Given the description of an element on the screen output the (x, y) to click on. 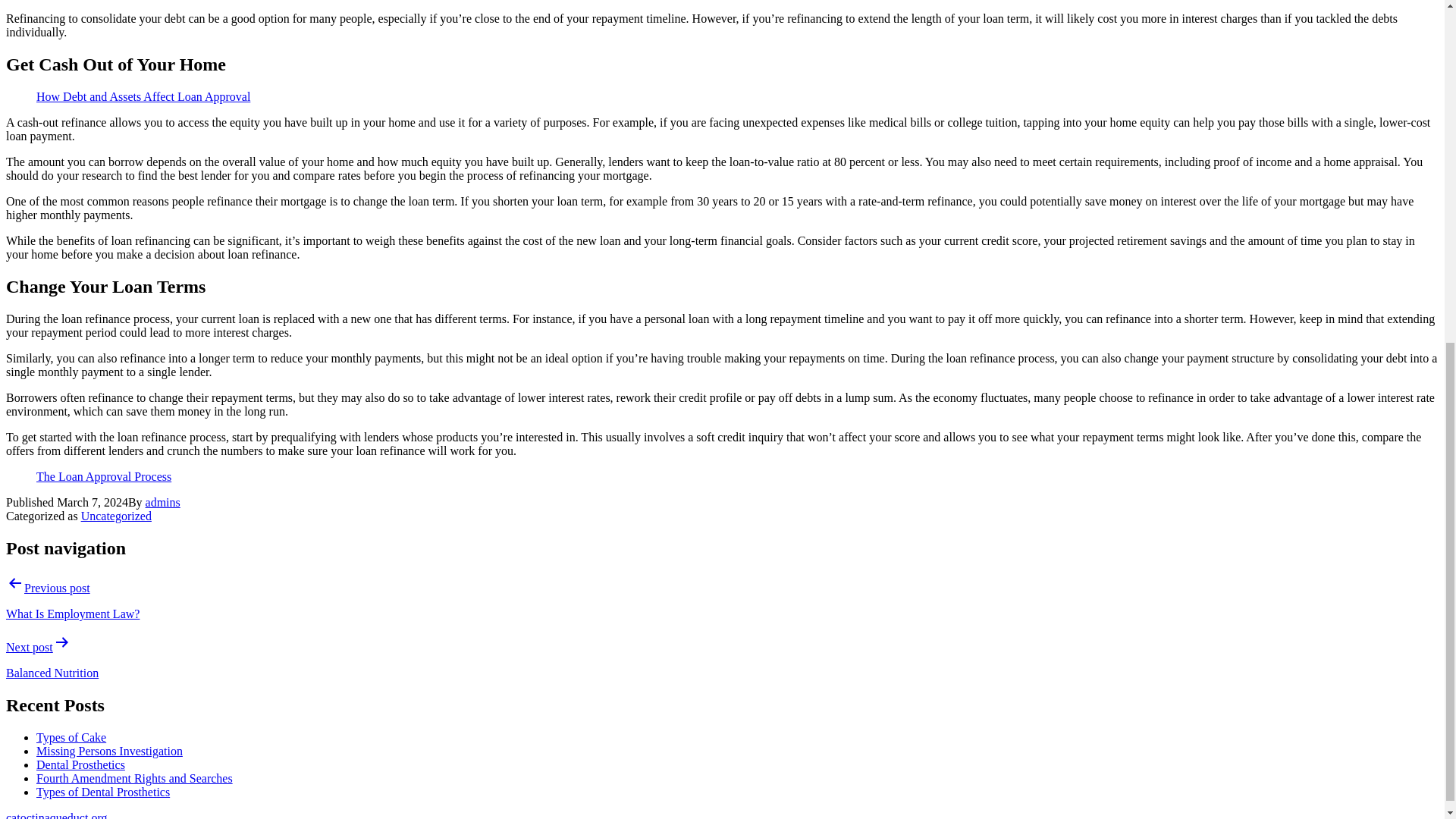
Types of Cake (71, 737)
Missing Persons Investigation (109, 750)
Uncategorized (116, 515)
How Debt and Assets Affect Loan Approval (143, 96)
admins (162, 502)
Dental Prosthetics (80, 764)
Fourth Amendment Rights and Searches (134, 778)
Types of Dental Prosthetics (103, 791)
The Loan Approval Process (103, 476)
